Given the description of an element on the screen output the (x, y) to click on. 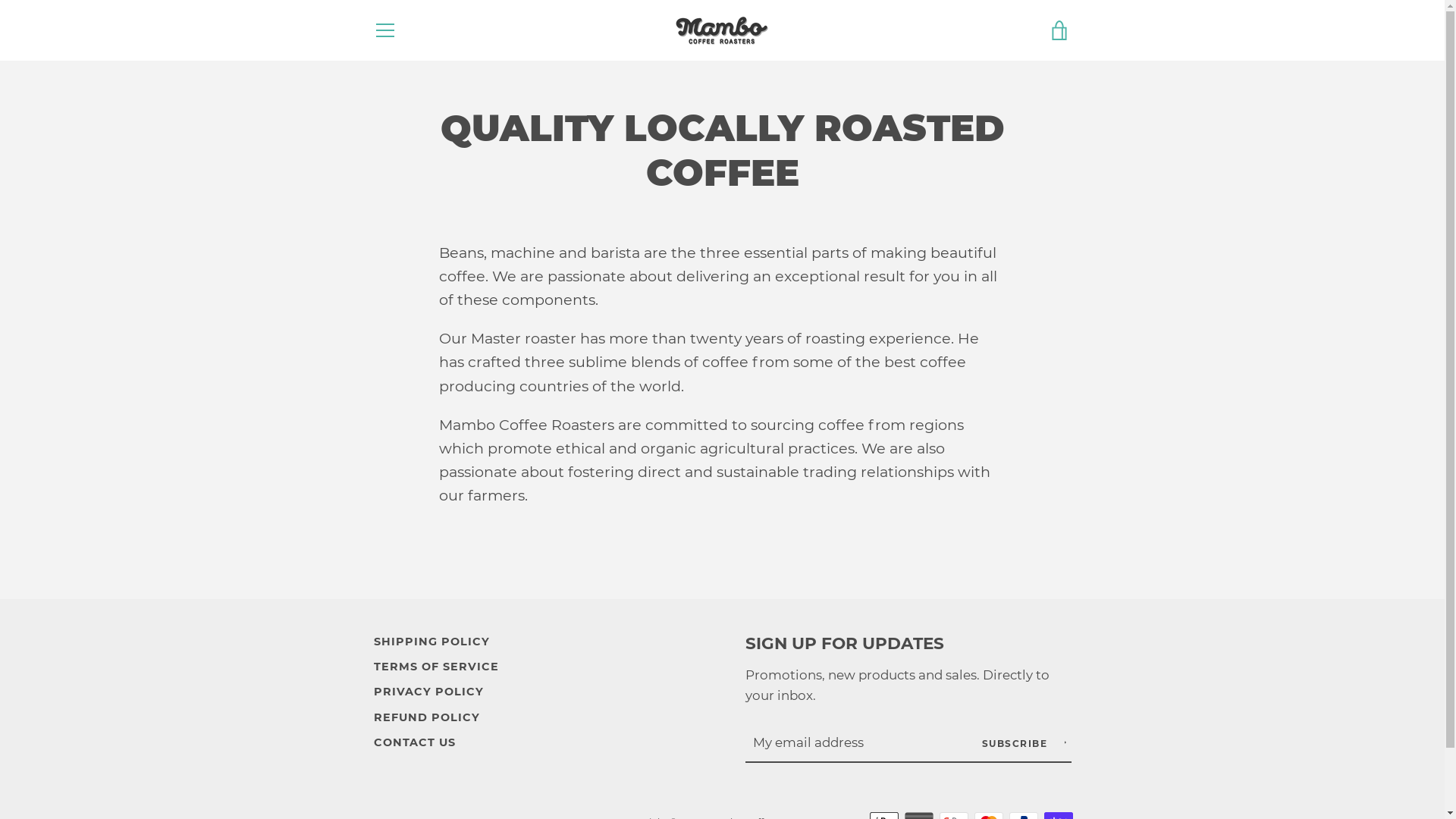
SUBSCRIBE Element type: text (1023, 742)
TERMS OF SERVICE Element type: text (435, 666)
MENU Element type: text (384, 30)
SHIPPING POLICY Element type: text (431, 641)
PRIVACY POLICY Element type: text (428, 691)
CONTACT US Element type: text (414, 742)
Skip to content Element type: text (0, 0)
VIEW CART Element type: text (1059, 30)
REFUND POLICY Element type: text (426, 717)
